Given the description of an element on the screen output the (x, y) to click on. 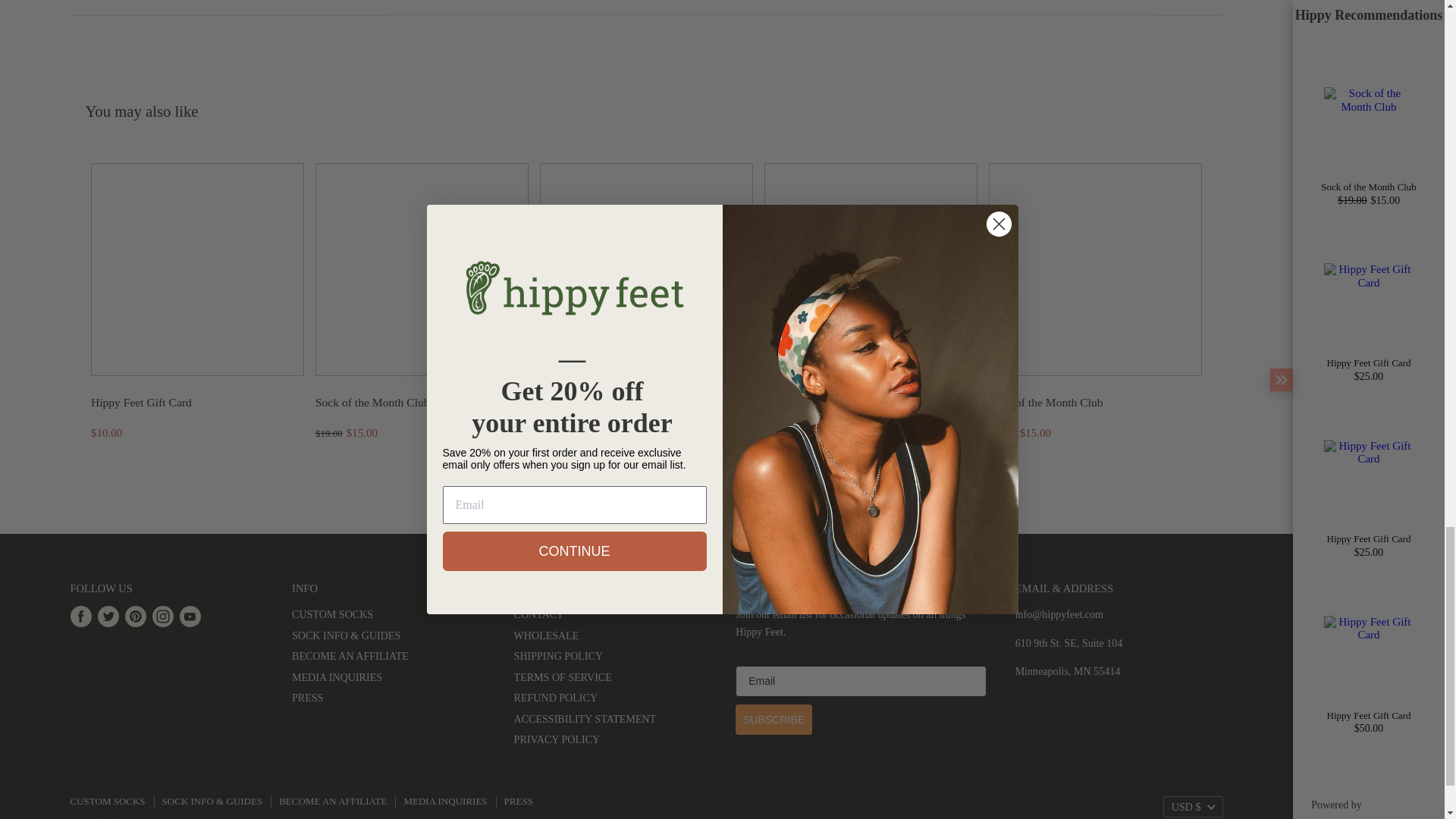
Twitter (107, 615)
Facebook (80, 615)
Instagram (162, 615)
Pinterest (134, 615)
Youtube (189, 615)
